Given the description of an element on the screen output the (x, y) to click on. 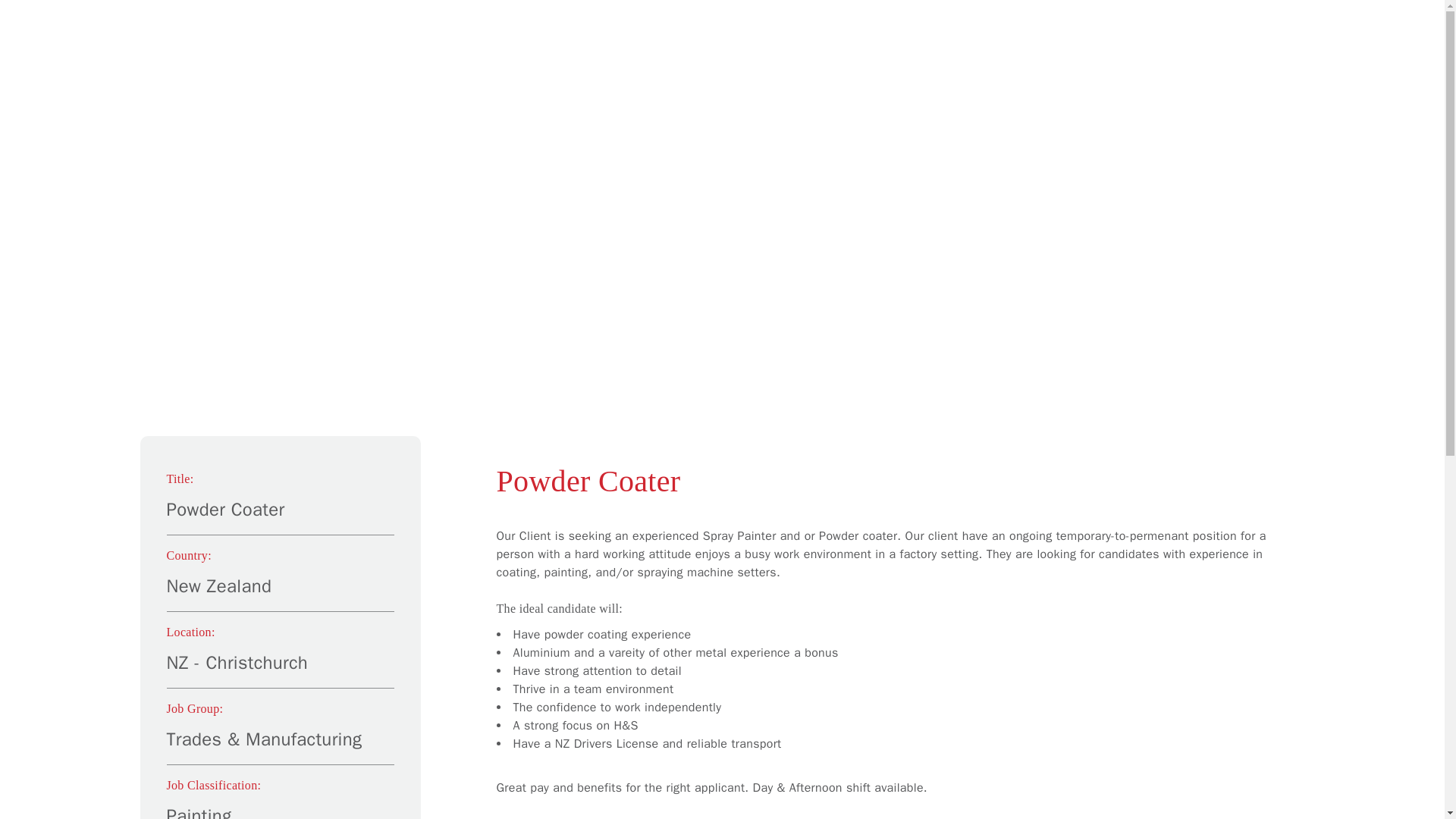
Apply (1268, 63)
Powder Coater (892, 481)
Contact (1363, 63)
About (988, 63)
Login (1369, 33)
Services (1086, 63)
Jobs (1180, 63)
